Given the description of an element on the screen output the (x, y) to click on. 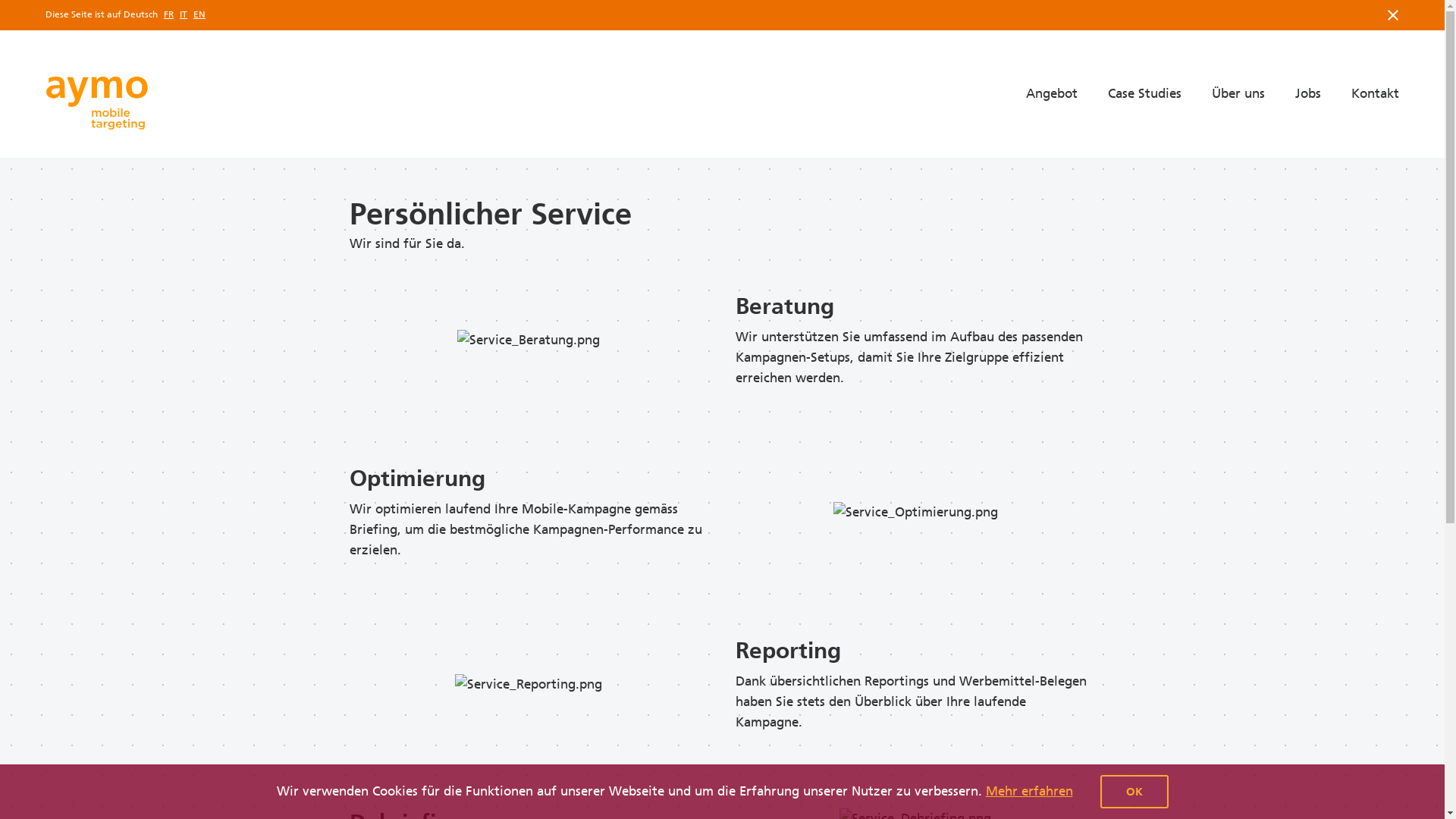
Home Element type: hover (96, 102)
Mehr erfahren Element type: text (1029, 790)
Jobs Element type: text (1308, 93)
FR Element type: text (168, 15)
Angebot Element type: text (1051, 93)
OK Element type: text (1133, 791)
IT Element type: text (183, 15)
Kontakt Element type: text (1375, 93)
Case Studies Element type: text (1144, 93)
EN Element type: text (199, 15)
